Given the description of an element on the screen output the (x, y) to click on. 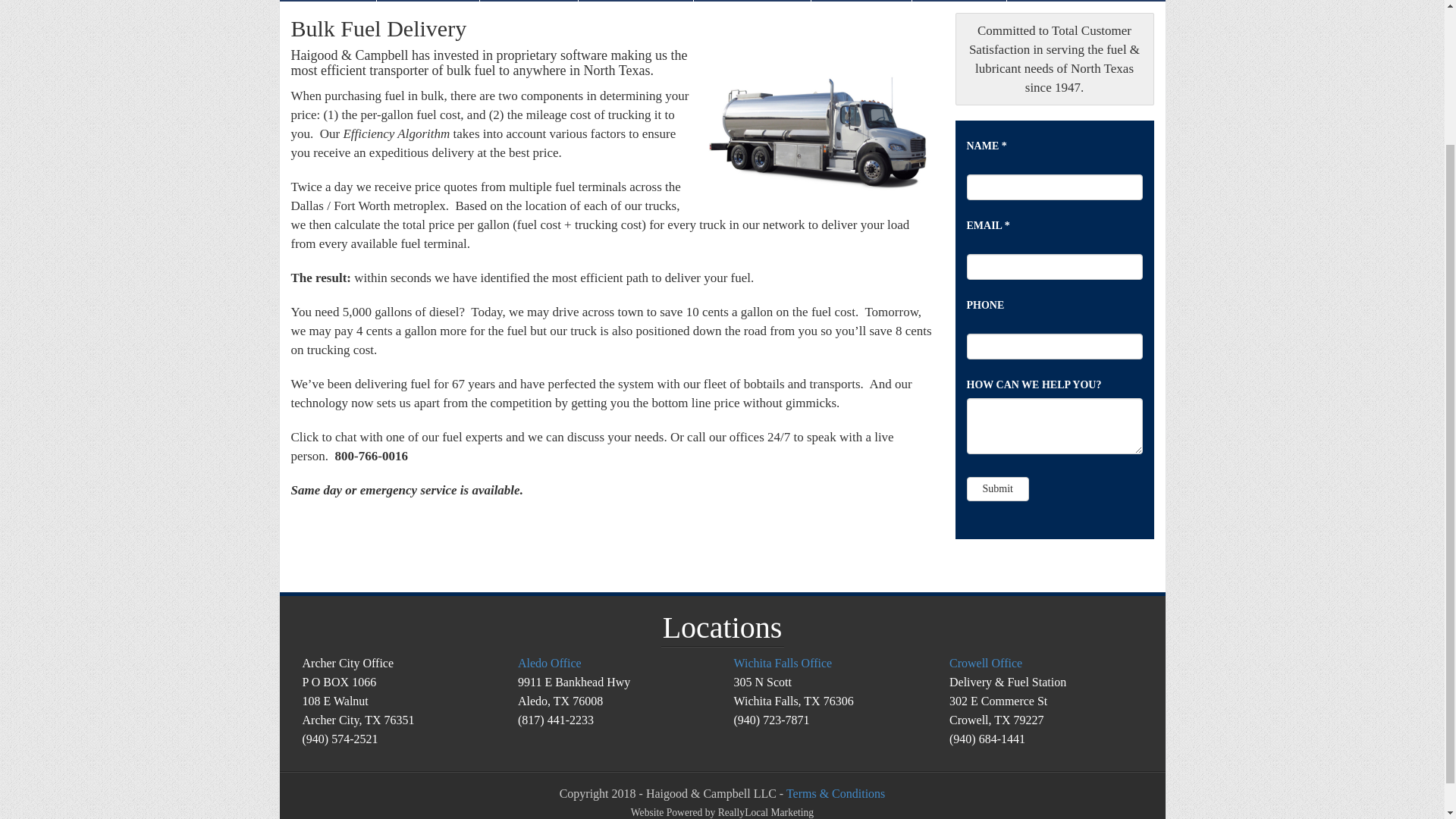
Submit (996, 488)
